Given the description of an element on the screen output the (x, y) to click on. 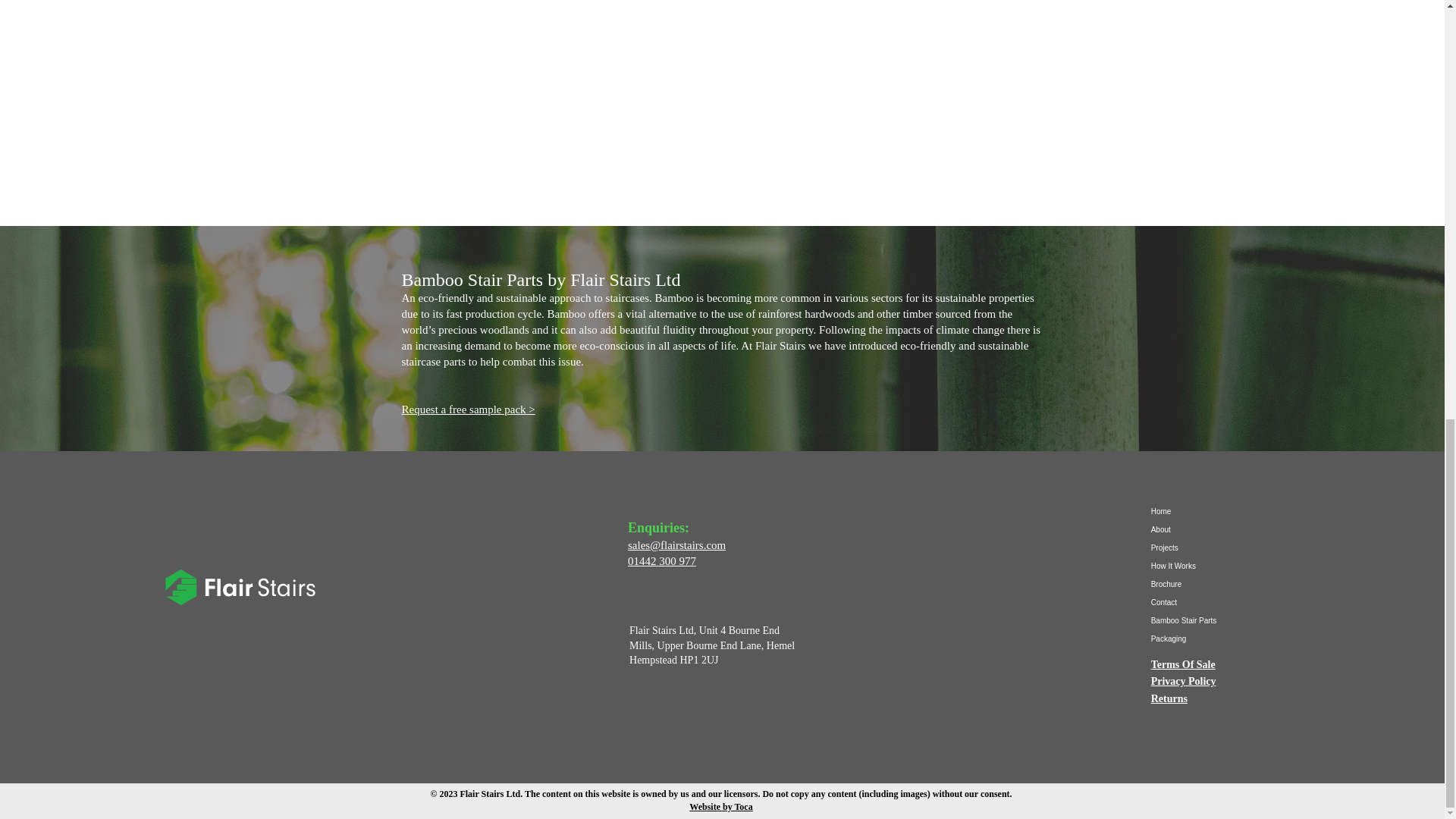
About (1204, 529)
How It Works (1204, 566)
Terms Of Sale (1183, 664)
Bamboo Stair Parts (1204, 620)
Projects (1204, 547)
Privacy Policy (1183, 681)
Contact (1204, 602)
Website by Toca (720, 806)
Returns (1169, 698)
Home (1204, 511)
Brochure (1204, 584)
Packaging (1204, 638)
